Given the description of an element on the screen output the (x, y) to click on. 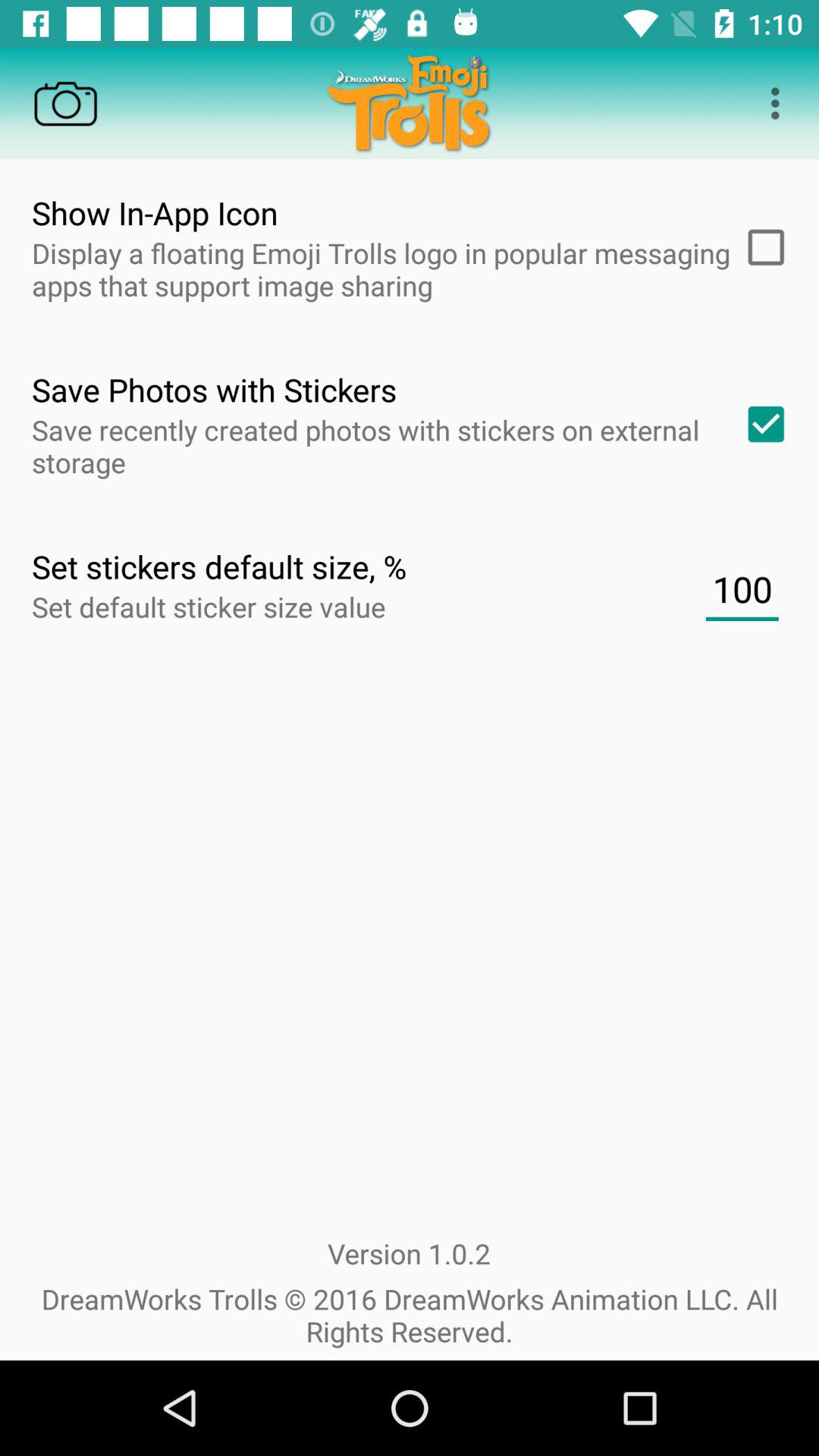
flip until the 100 (741, 589)
